Given the description of an element on the screen output the (x, y) to click on. 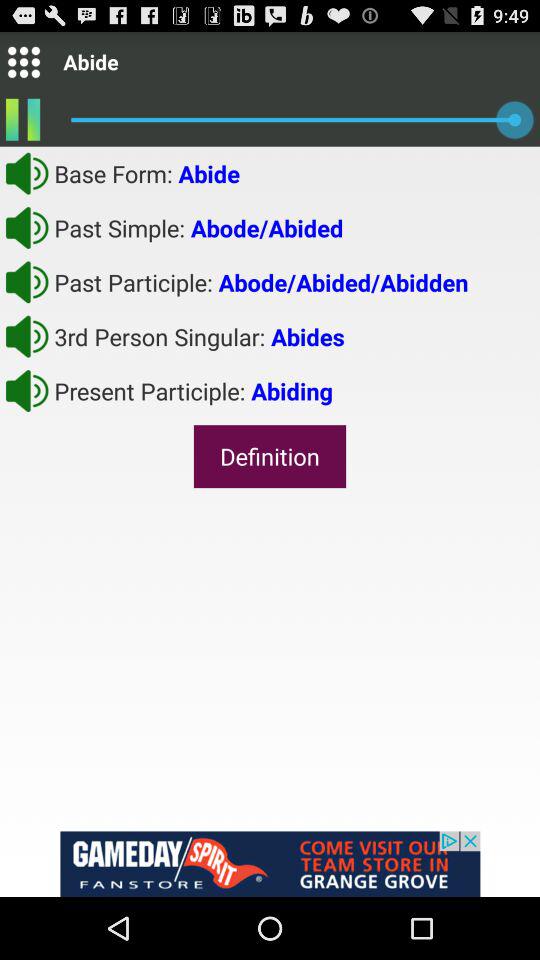
icon option (23, 61)
